Given the description of an element on the screen output the (x, y) to click on. 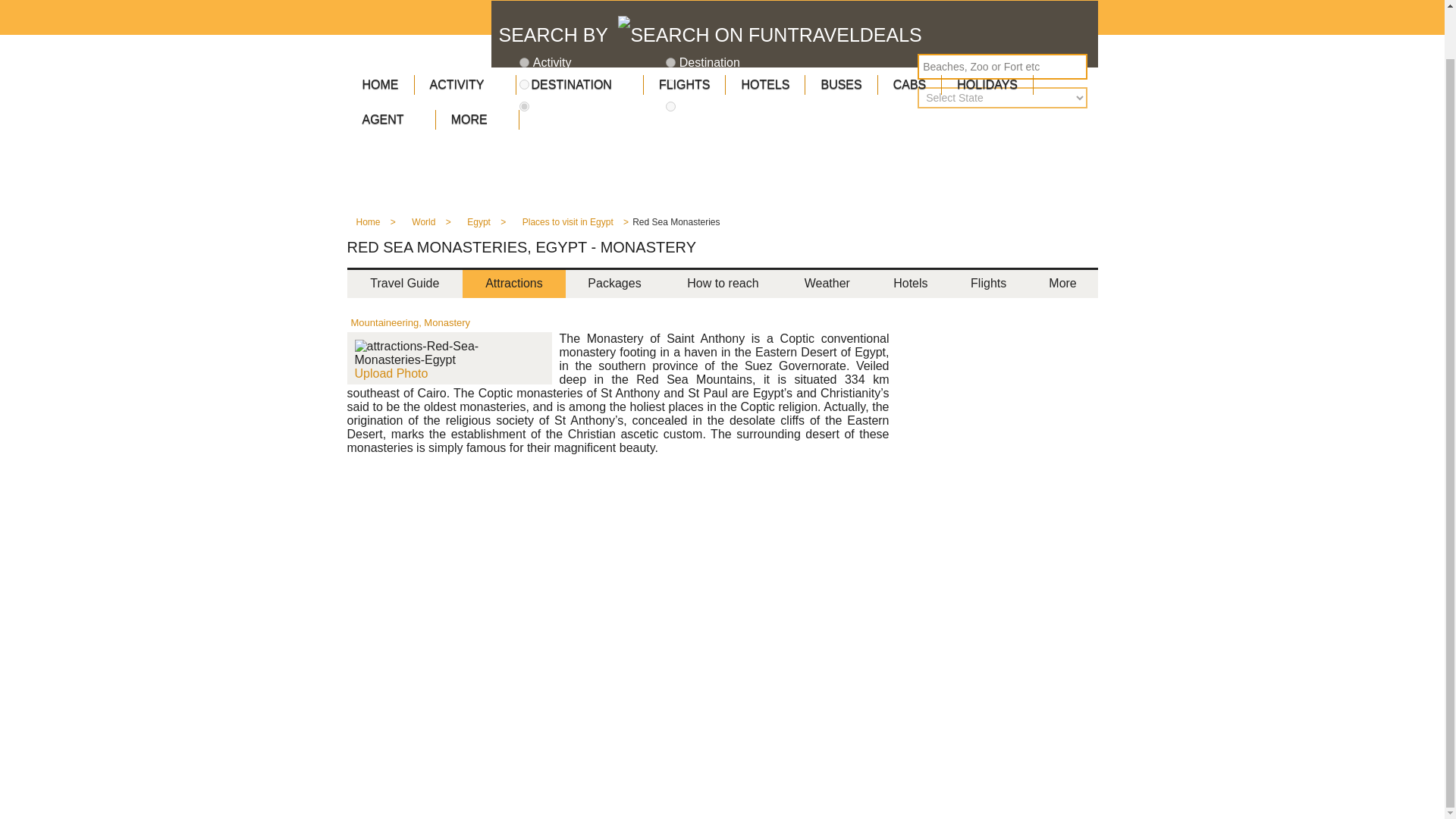
Search on Fun Travel Deals (769, 34)
Red Sea Monasteries Egypt (449, 352)
4 (670, 84)
6 (524, 106)
World (423, 226)
3 (524, 84)
Egypt (478, 226)
CABS (909, 84)
HOME (380, 84)
Home (367, 226)
Beaches, Zoo or Fort etc (1002, 66)
FLIGHTS (684, 84)
ACTIVITY (464, 84)
1 (524, 62)
DESTINATION (579, 84)
